Given the description of an element on the screen output the (x, y) to click on. 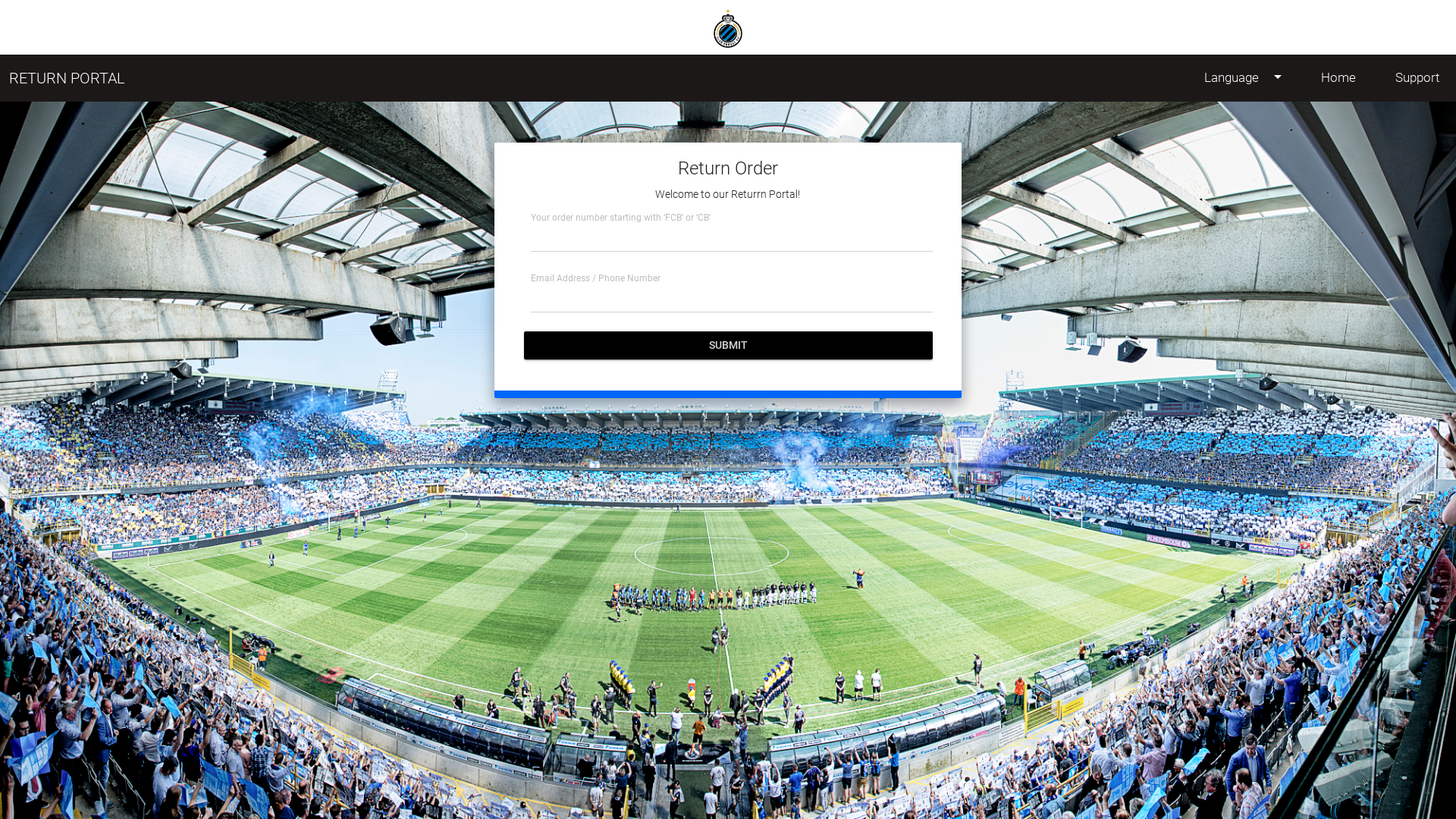
Home Element type: text (1338, 77)
Support Element type: text (1417, 77)
Language    Element type: text (1242, 77)
SUBMIT Element type: text (728, 345)
